Given the description of an element on the screen output the (x, y) to click on. 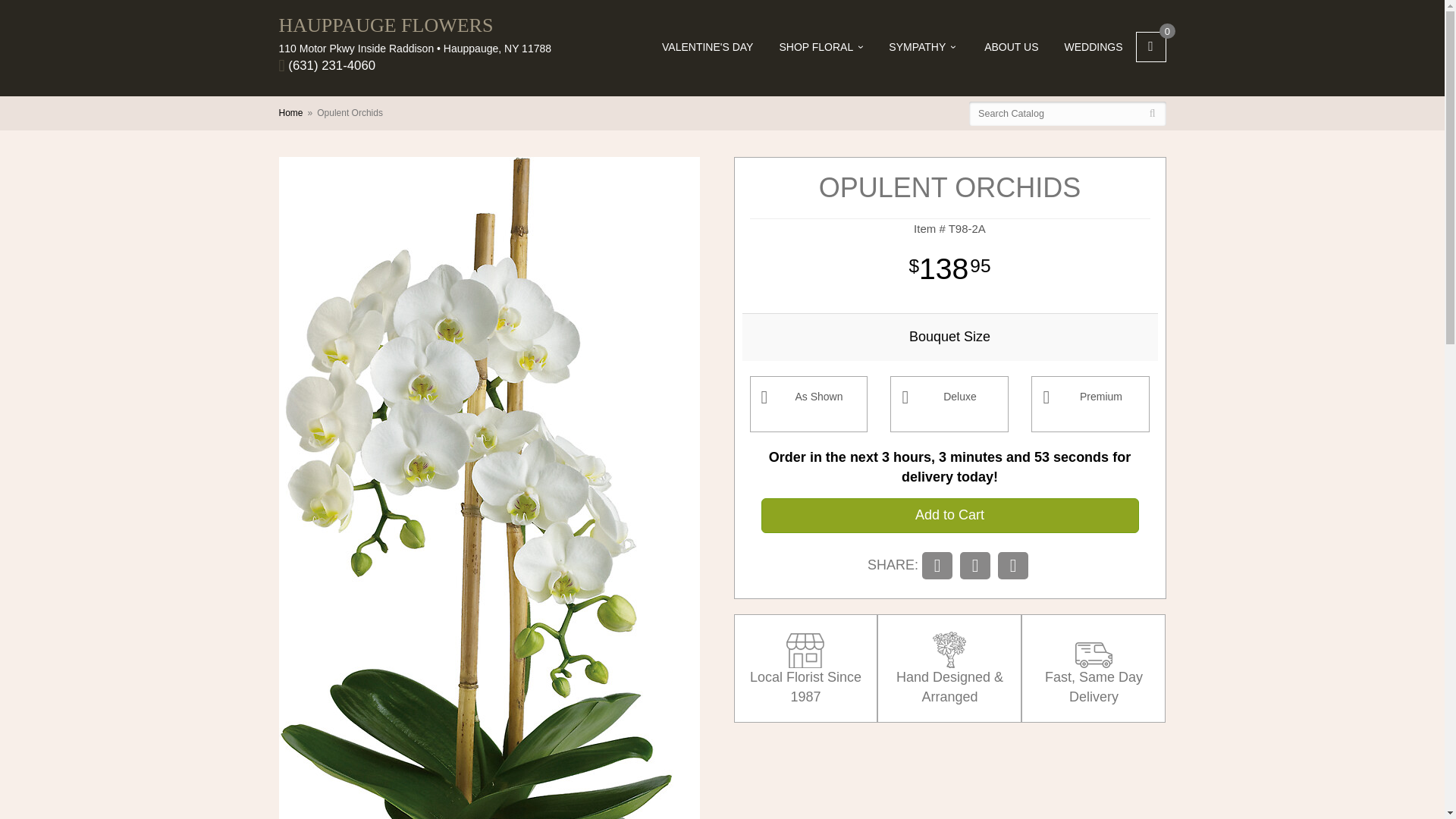
Home (290, 112)
0 (1150, 46)
VALENTINE'S DAY (707, 46)
SYMPATHY (922, 46)
HAUPPAUGE FLOWERS (415, 25)
SHOP FLORAL (820, 46)
WEDDINGS (1093, 46)
ABOUT US (1011, 46)
Add to Cart (949, 515)
